Given the description of an element on the screen output the (x, y) to click on. 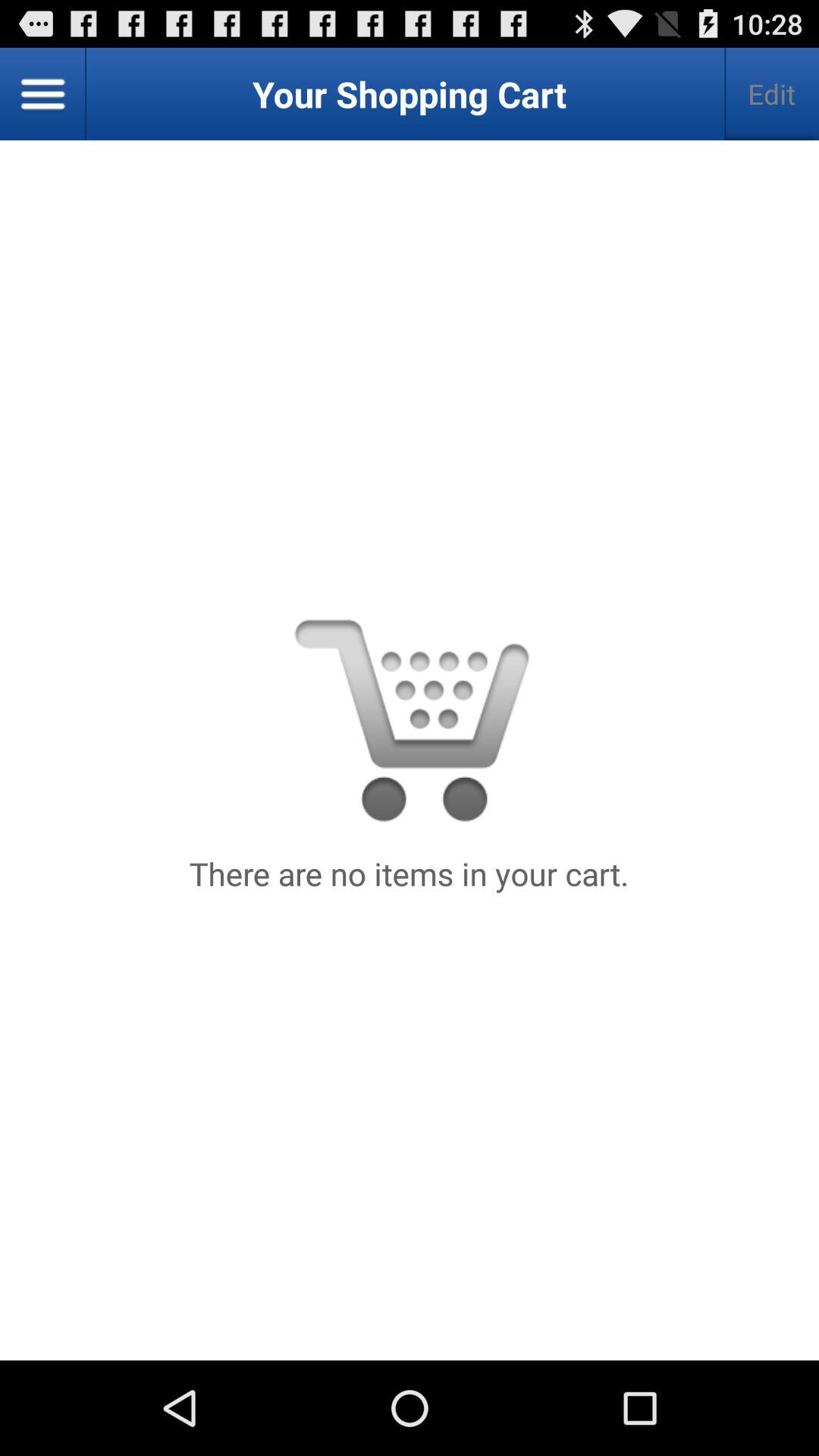
open the button next to the edit button (43, 93)
